Given the description of an element on the screen output the (x, y) to click on. 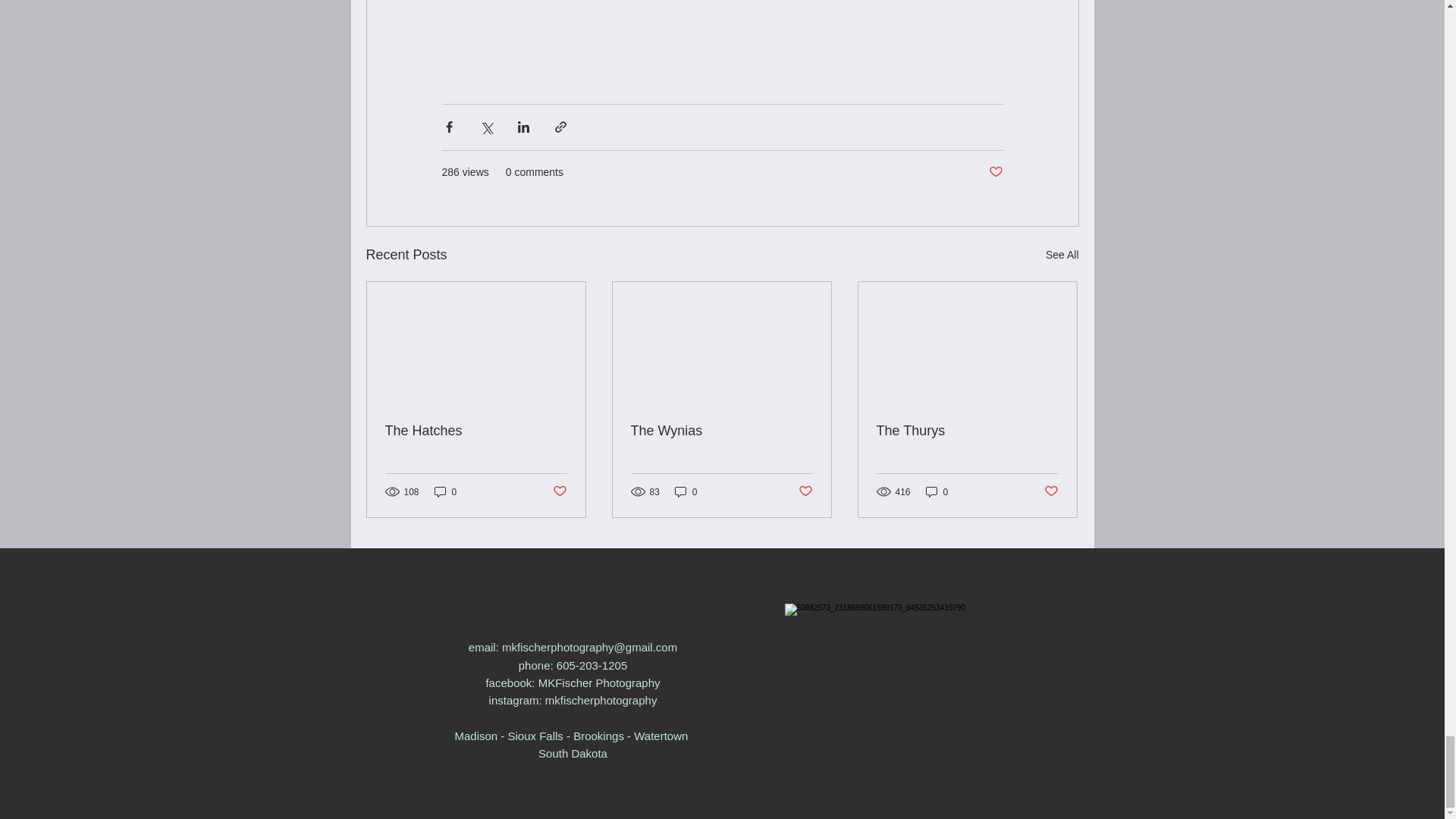
See All (1061, 255)
The Wynias (721, 430)
The Thurys (967, 430)
0 (937, 491)
Post not marked as liked (995, 172)
The Hatches (476, 430)
0 (445, 491)
Post not marked as liked (1050, 491)
Post not marked as liked (558, 491)
Post not marked as liked (804, 491)
0 (685, 491)
